Given the description of an element on the screen output the (x, y) to click on. 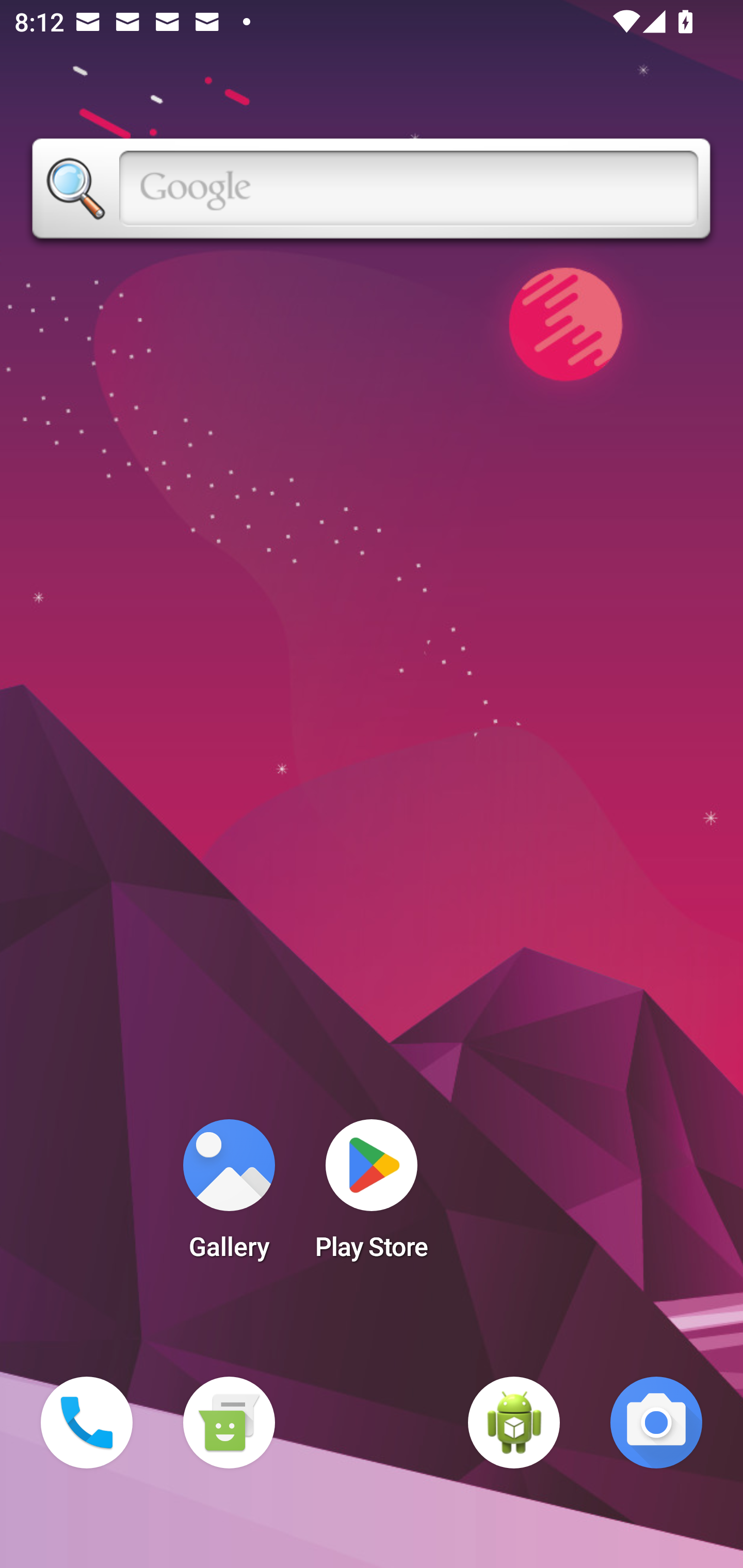
Gallery (228, 1195)
Play Store (371, 1195)
Phone (86, 1422)
Messaging (228, 1422)
WebView Browser Tester (513, 1422)
Camera (656, 1422)
